Given the description of an element on the screen output the (x, y) to click on. 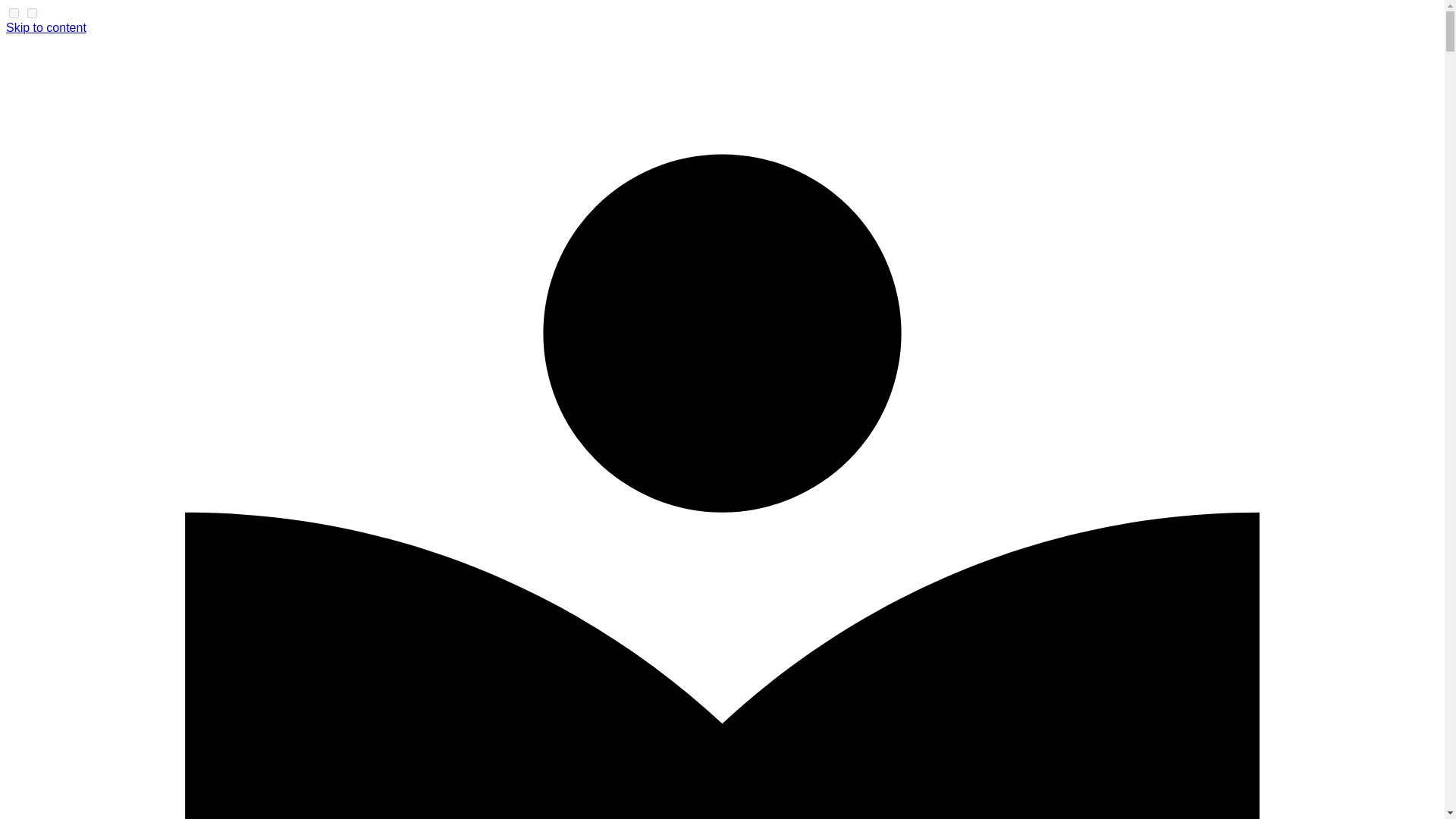
on (32, 13)
Skip to content (45, 27)
on (13, 13)
